Given the description of an element on the screen output the (x, y) to click on. 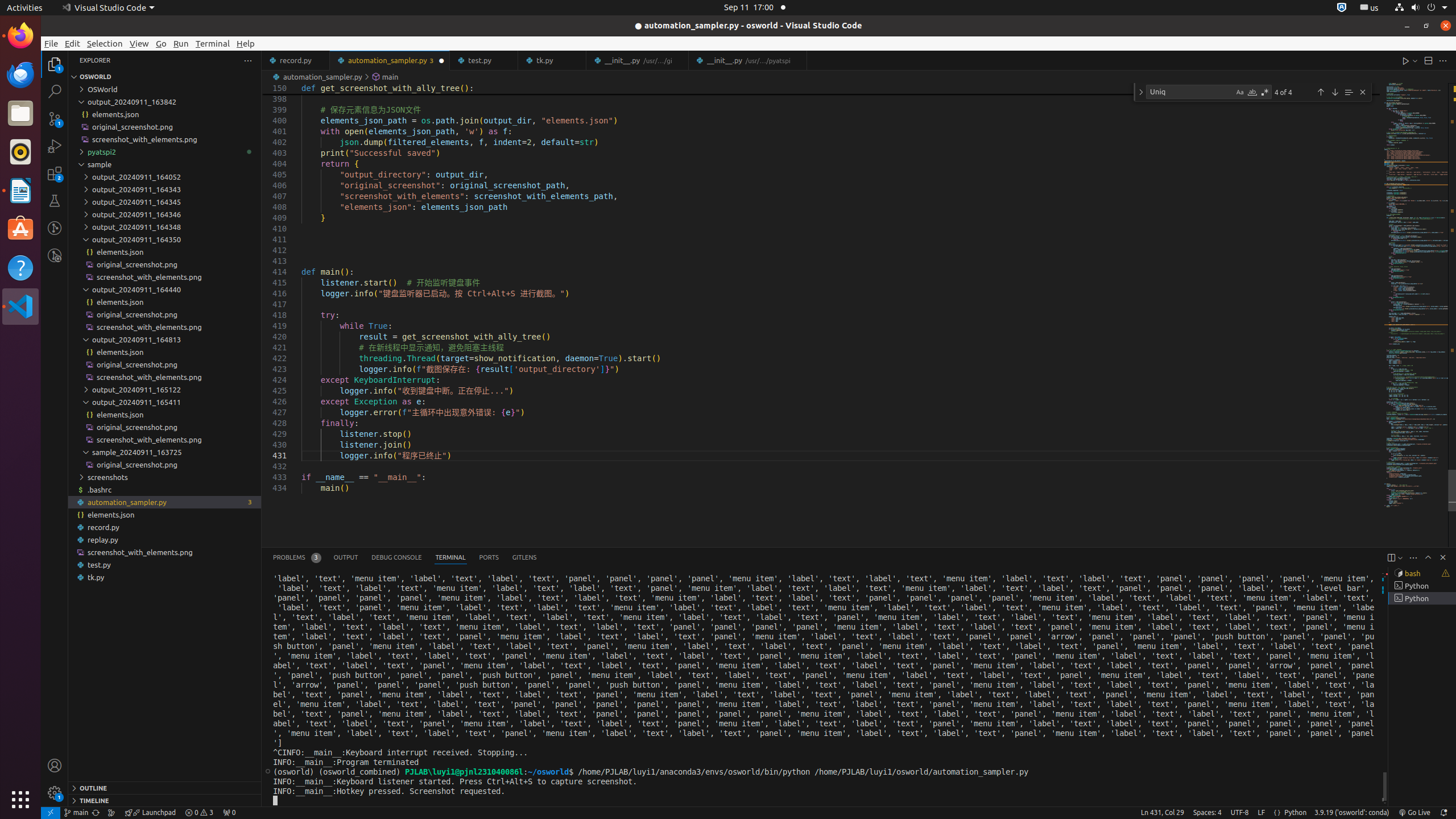
Run Element type: push-button (181, 43)
record.py Element type: tree-item (164, 526)
output_20240911_164346 Element type: tree-item (164, 214)
Hide Panel Element type: push-button (1442, 557)
Notifications Element type: push-button (1443, 812)
